Given the description of an element on the screen output the (x, y) to click on. 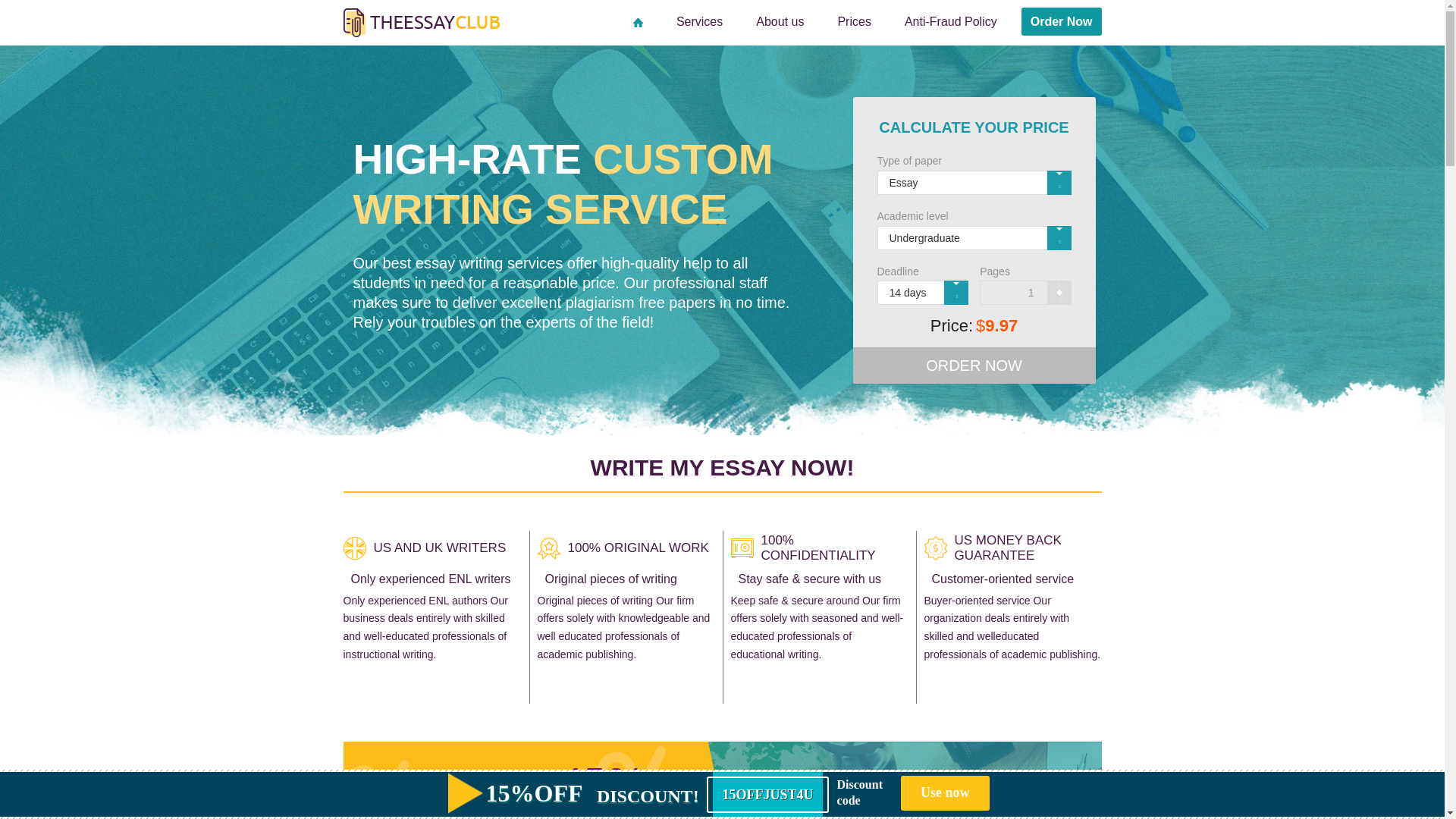
ORDER NOW (972, 365)
About us (779, 21)
1 (1024, 292)
Prices (853, 21)
Order Now (1062, 21)
Home (638, 21)
TheEssayClub (420, 22)
Anti-Fraud Policy (950, 21)
Services (699, 21)
